Given the description of an element on the screen output the (x, y) to click on. 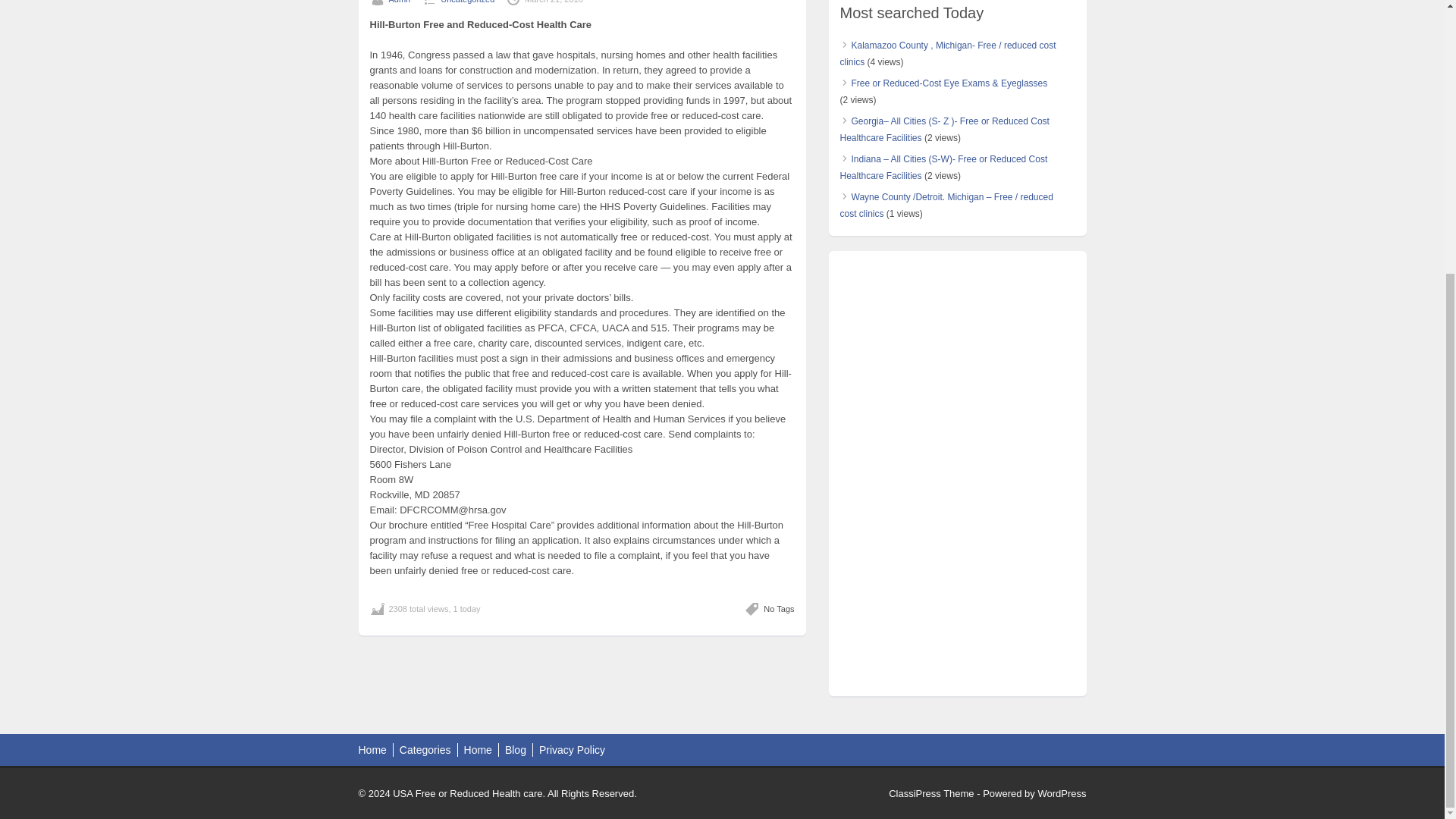
Advertisement (957, 579)
Blog (515, 749)
Uncategorized (468, 2)
Posts by Admn (399, 2)
Categories (424, 749)
Home (478, 749)
Privacy Policy (571, 749)
Home (371, 749)
Admn (399, 2)
